Given the description of an element on the screen output the (x, y) to click on. 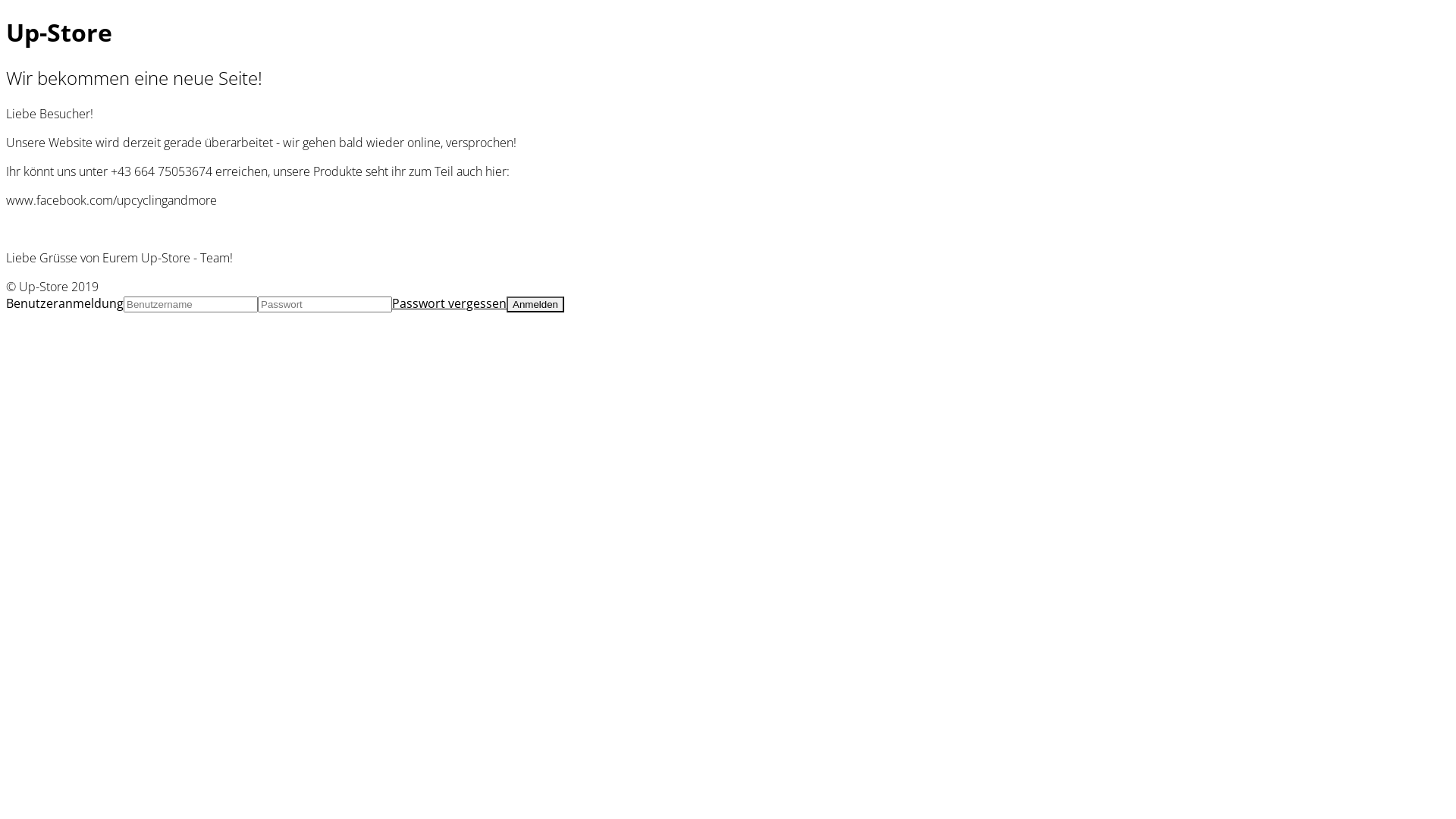
Anmelden Element type: text (535, 304)
Passwort vergessen Element type: text (449, 302)
